Given the description of an element on the screen output the (x, y) to click on. 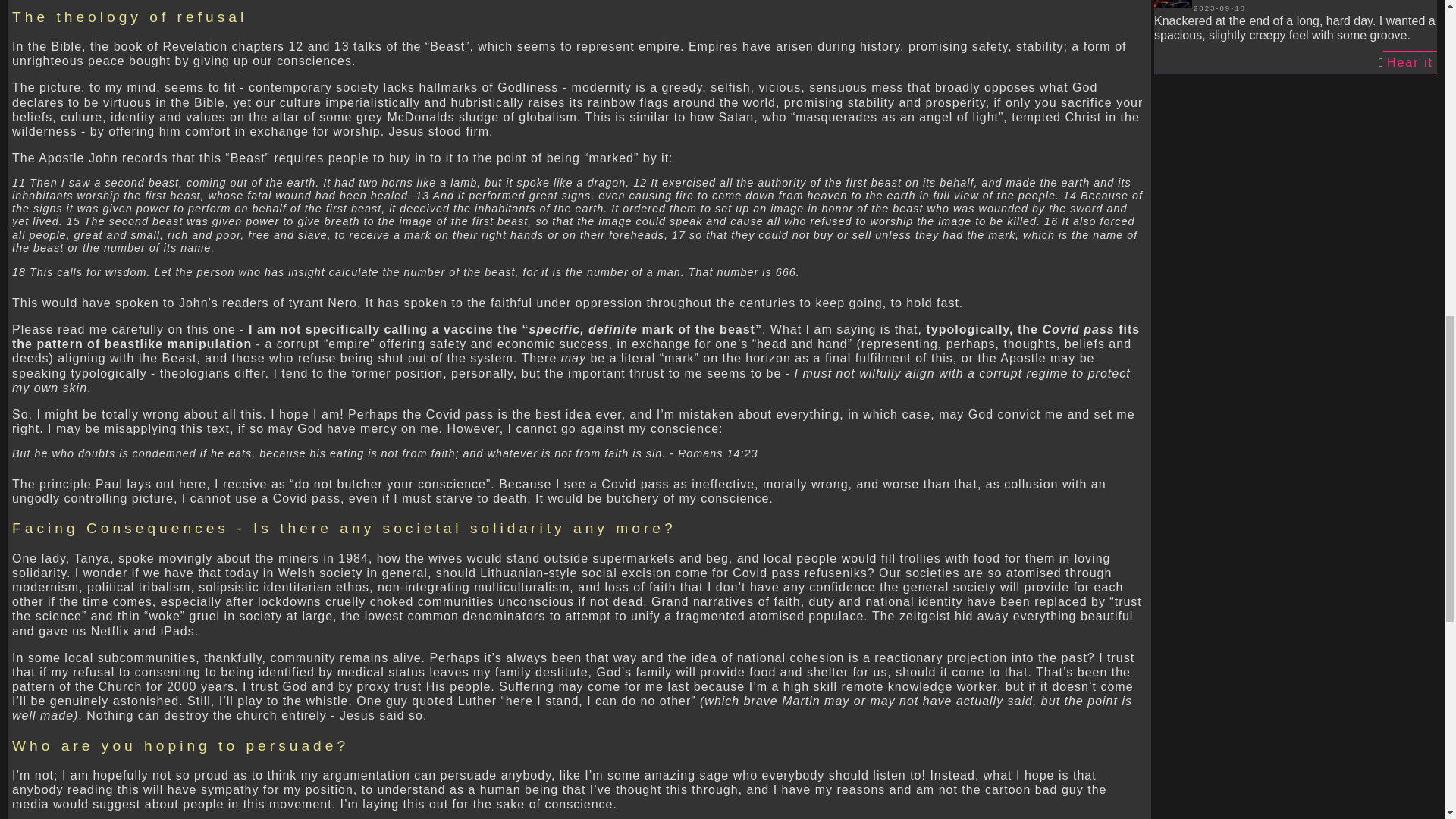
Hear it (1410, 61)
